Given the description of an element on the screen output the (x, y) to click on. 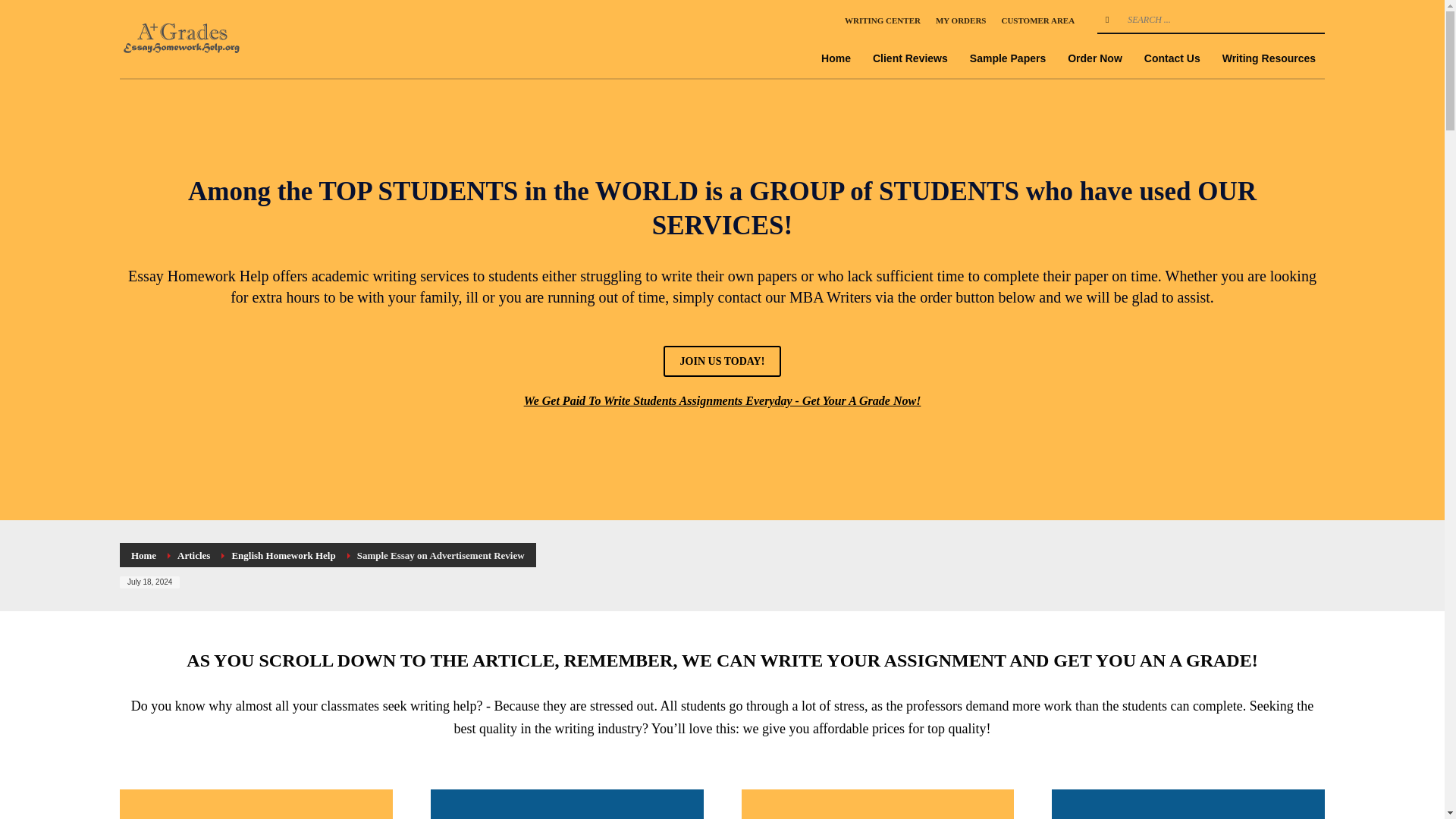
Client Reviews (909, 57)
go (1107, 19)
Home (836, 57)
Home (143, 555)
Articles (193, 555)
Writing Resources (1268, 57)
Order Now (1094, 57)
Sample Papers (1007, 57)
CUSTOMER AREA (1037, 20)
Articles (193, 555)
Chat Invitation (1322, 605)
Homework Help (183, 37)
JOIN US TODAY! (722, 360)
English Homework Help (282, 555)
Contact Us (1172, 57)
